Given the description of an element on the screen output the (x, y) to click on. 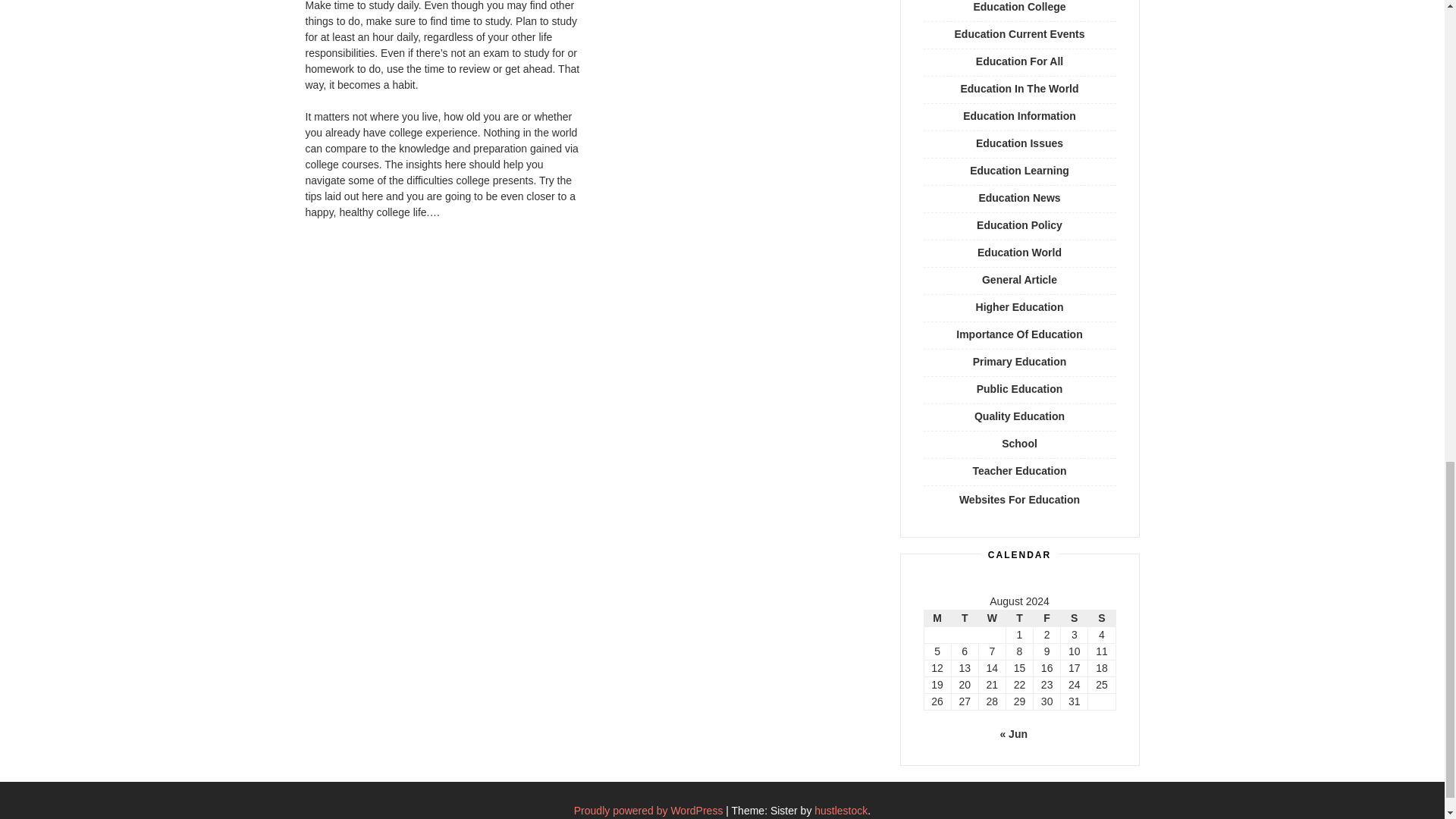
Thursday (1019, 618)
Monday (936, 618)
Friday (1047, 618)
Sunday (1101, 618)
Saturday (1074, 618)
Wednesday (992, 618)
Tuesday (964, 618)
